Given the description of an element on the screen output the (x, y) to click on. 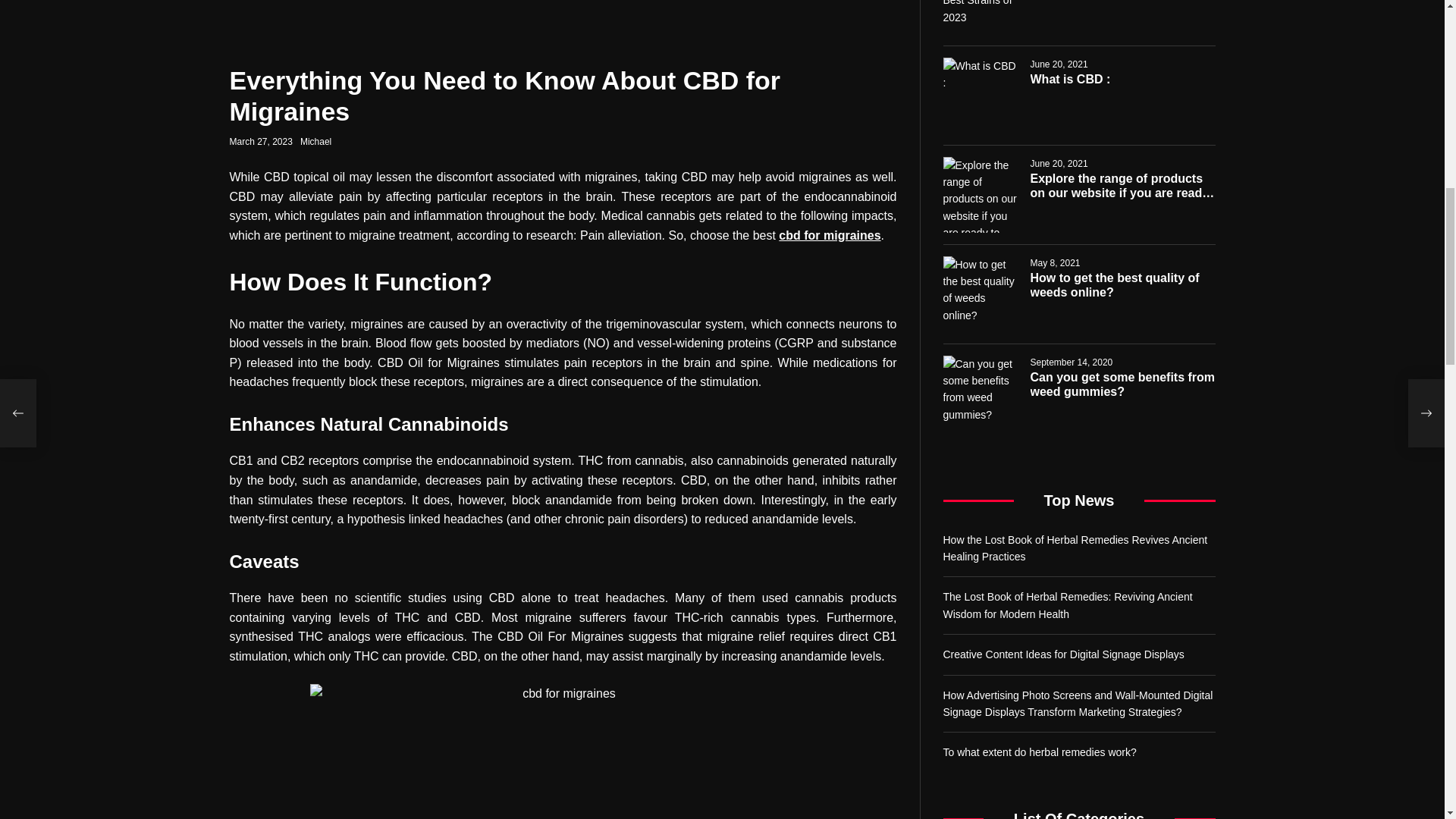
Michael (315, 141)
cbd for migraines (829, 235)
March 27, 2023 (260, 142)
